Given the description of an element on the screen output the (x, y) to click on. 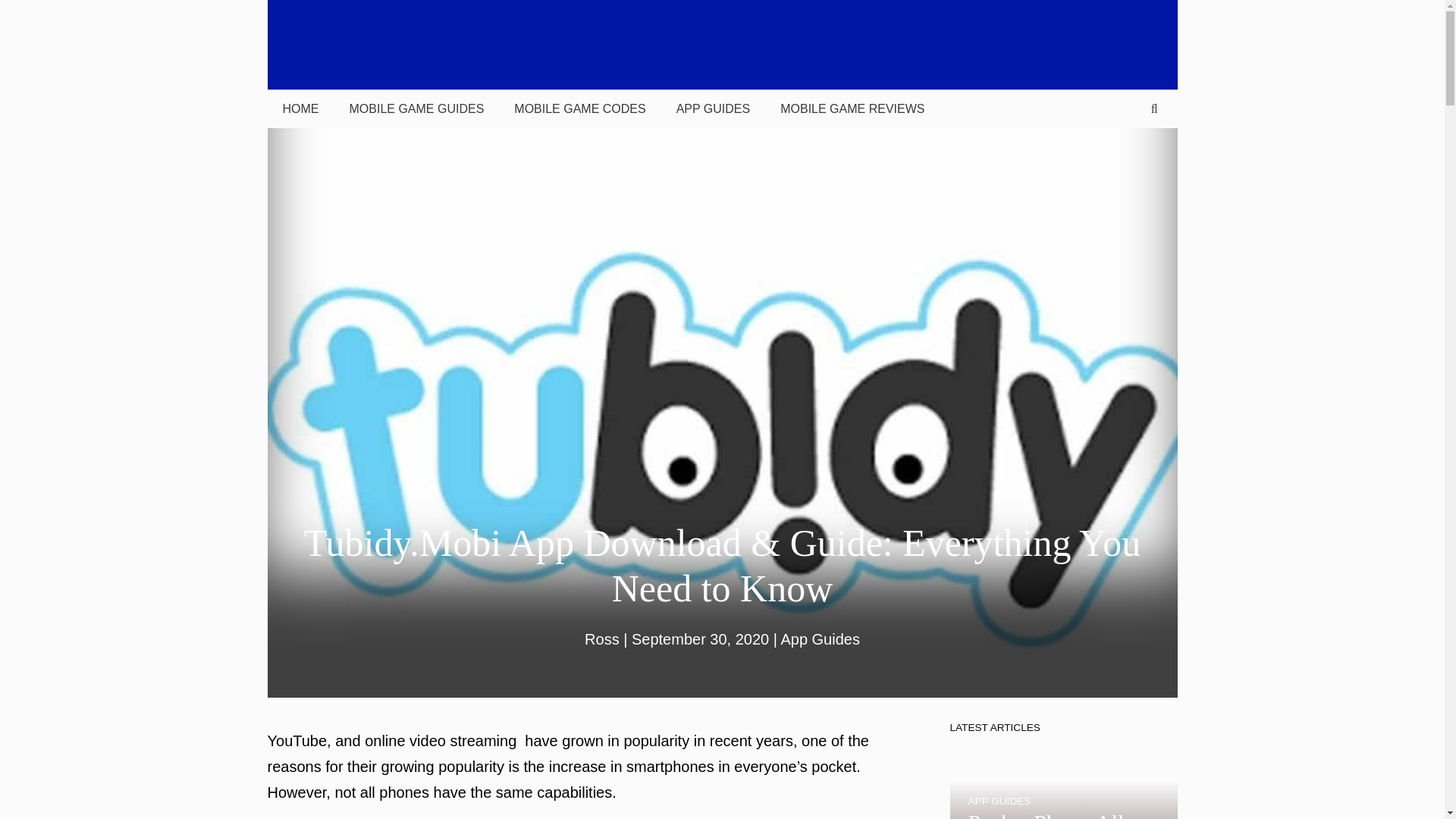
APP GUIDES (713, 108)
HOME (299, 108)
MOBILE GAME GUIDES (416, 108)
View all posts by Ross (602, 638)
MOBILE GAME CODES (580, 108)
APP GUIDES (999, 800)
App Guides (820, 638)
MOBILE GAME REVIEWS (852, 108)
Ross (602, 638)
